Given the description of an element on the screen output the (x, y) to click on. 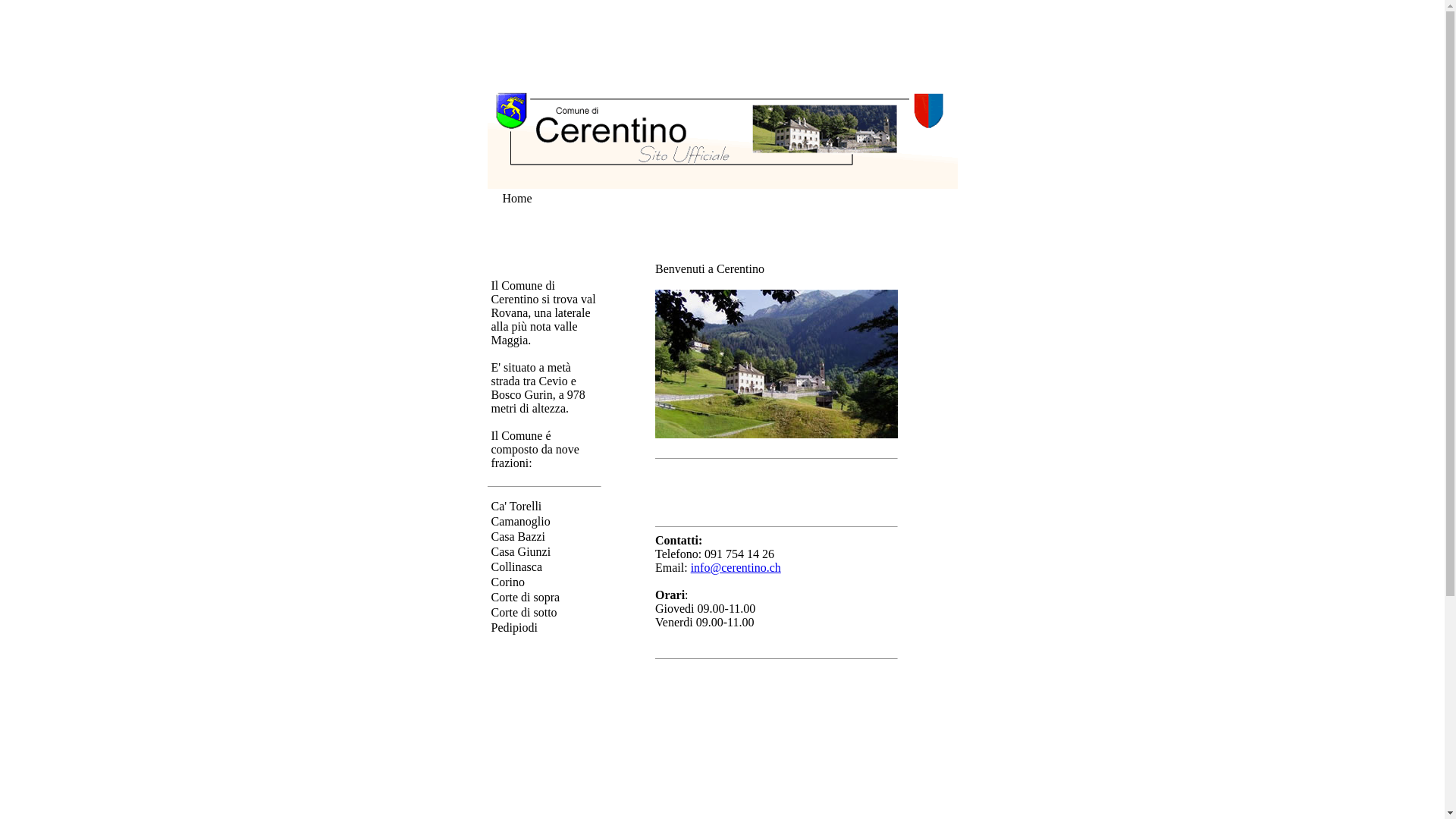
info@cerentino.ch Element type: text (735, 567)
